Given the description of an element on the screen output the (x, y) to click on. 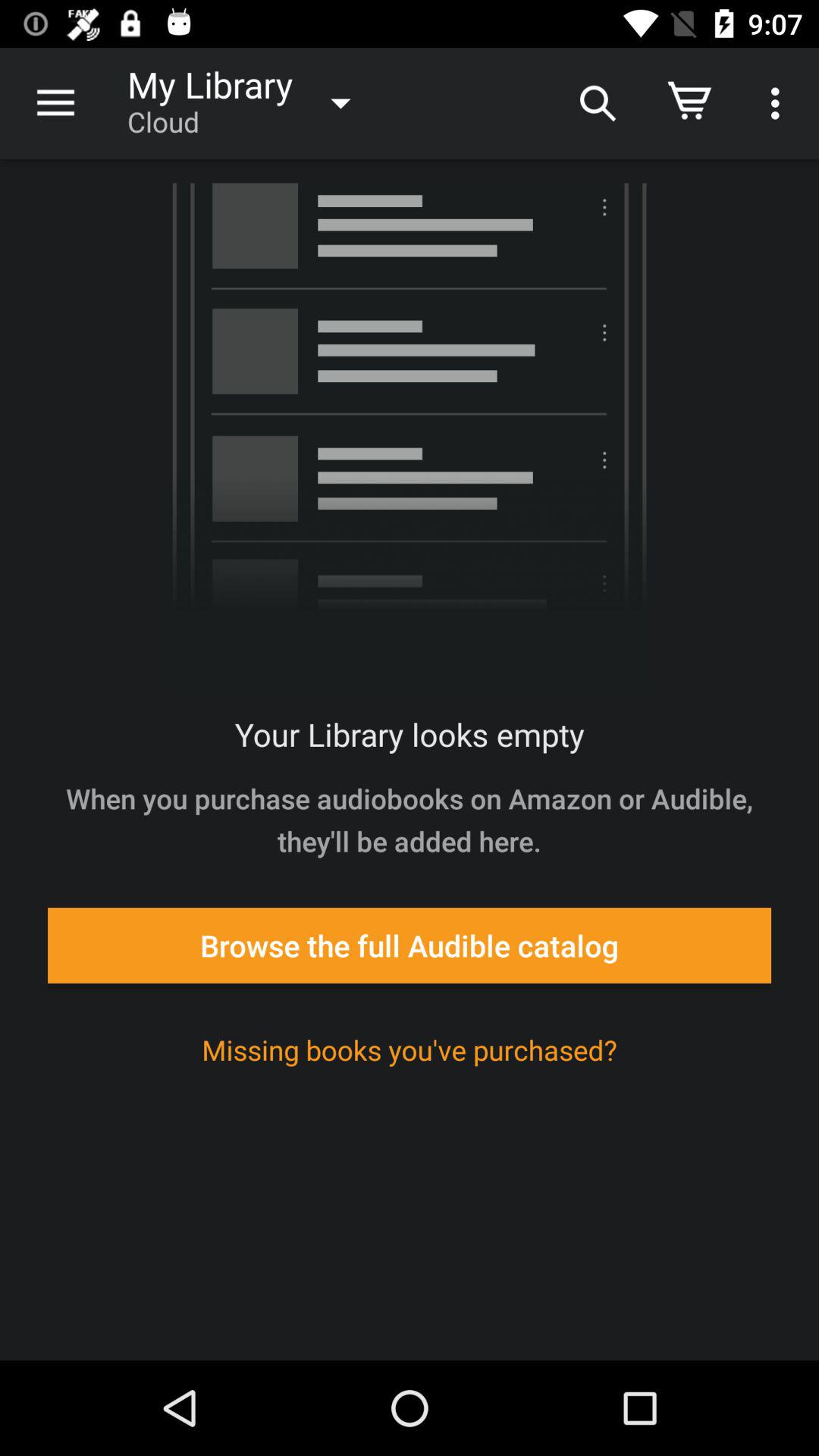
choose browse the full item (409, 945)
